Given the description of an element on the screen output the (x, y) to click on. 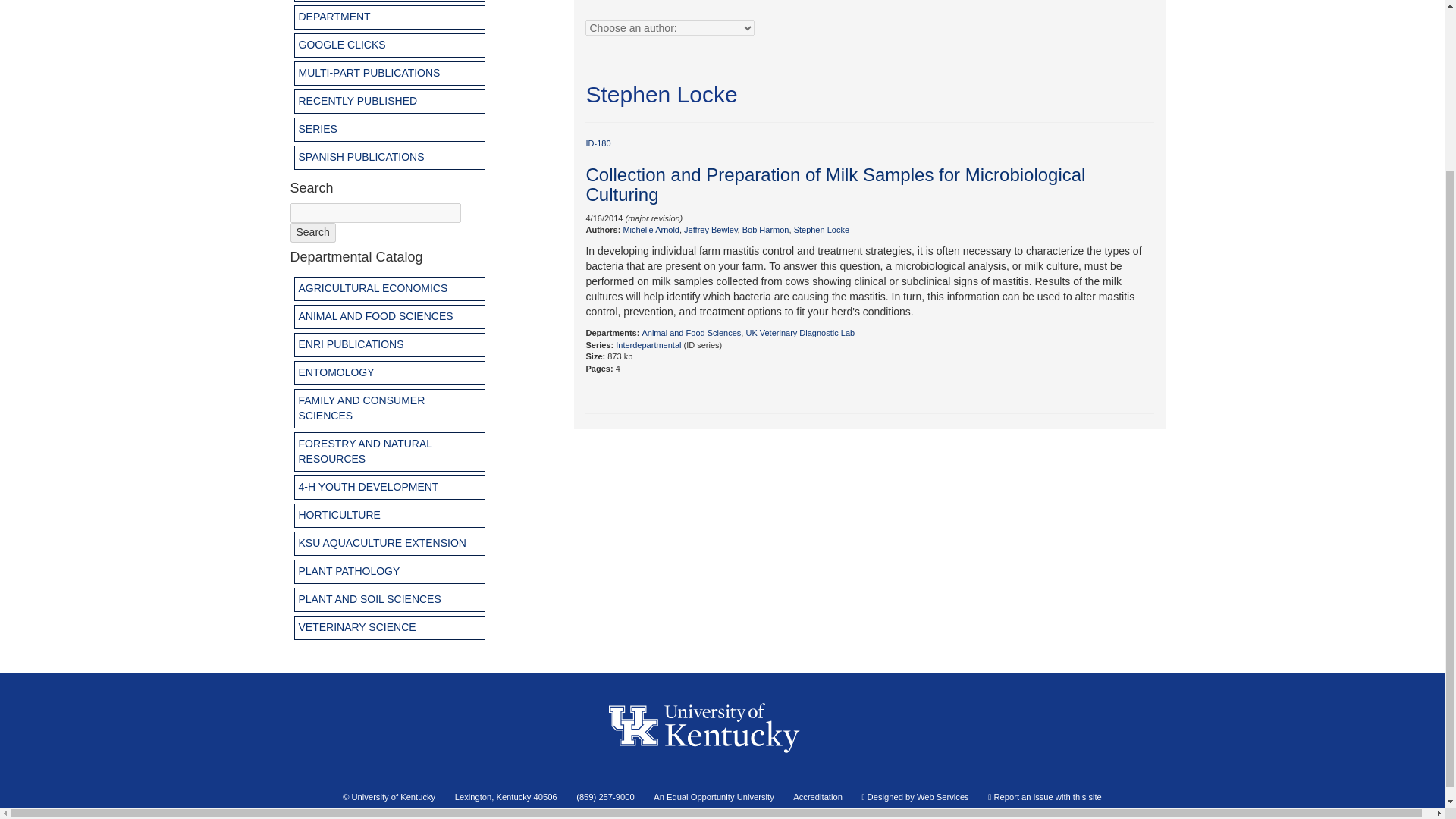
Animal and Food Sciences (691, 332)
VETERINARY SCIENCE (390, 627)
DEPARTMENT (390, 16)
University of Kentucky Lockup (721, 729)
UK Veterinary Diagnostic Lab (799, 332)
An Equal Opportunity University (713, 796)
University of Kentucky Lockup (721, 782)
Bob Harmon (765, 229)
Michelle Arnold (651, 229)
Interdepartmental (648, 344)
GOOGLE CLICKS (390, 45)
Accreditation (818, 796)
FAMILY AND CONSUMER SCIENCES (390, 408)
